Given the description of an element on the screen output the (x, y) to click on. 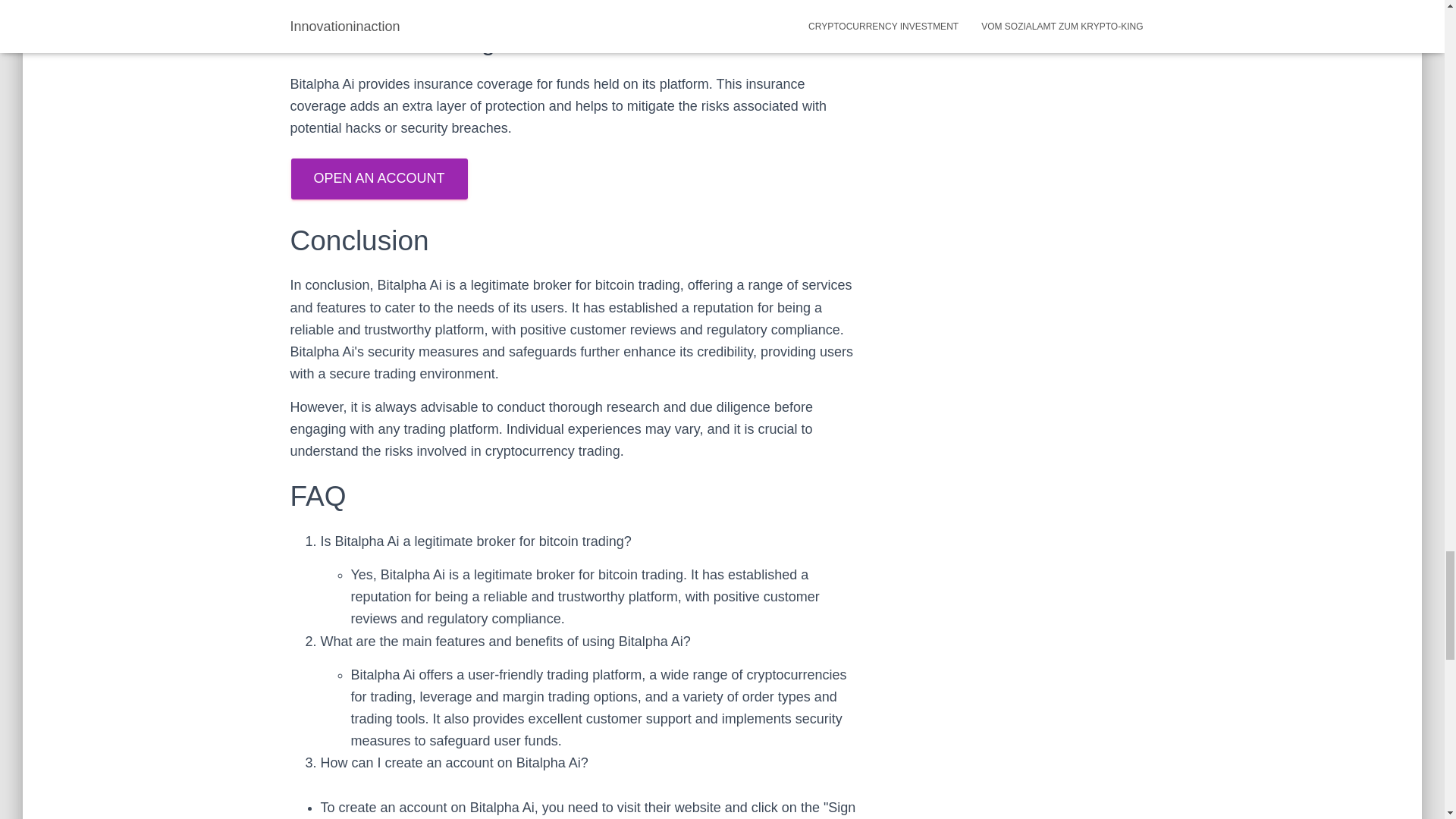
OPEN AN ACCOUNT (379, 178)
OPEN AN ACCOUNT (378, 177)
